Given the description of an element on the screen output the (x, y) to click on. 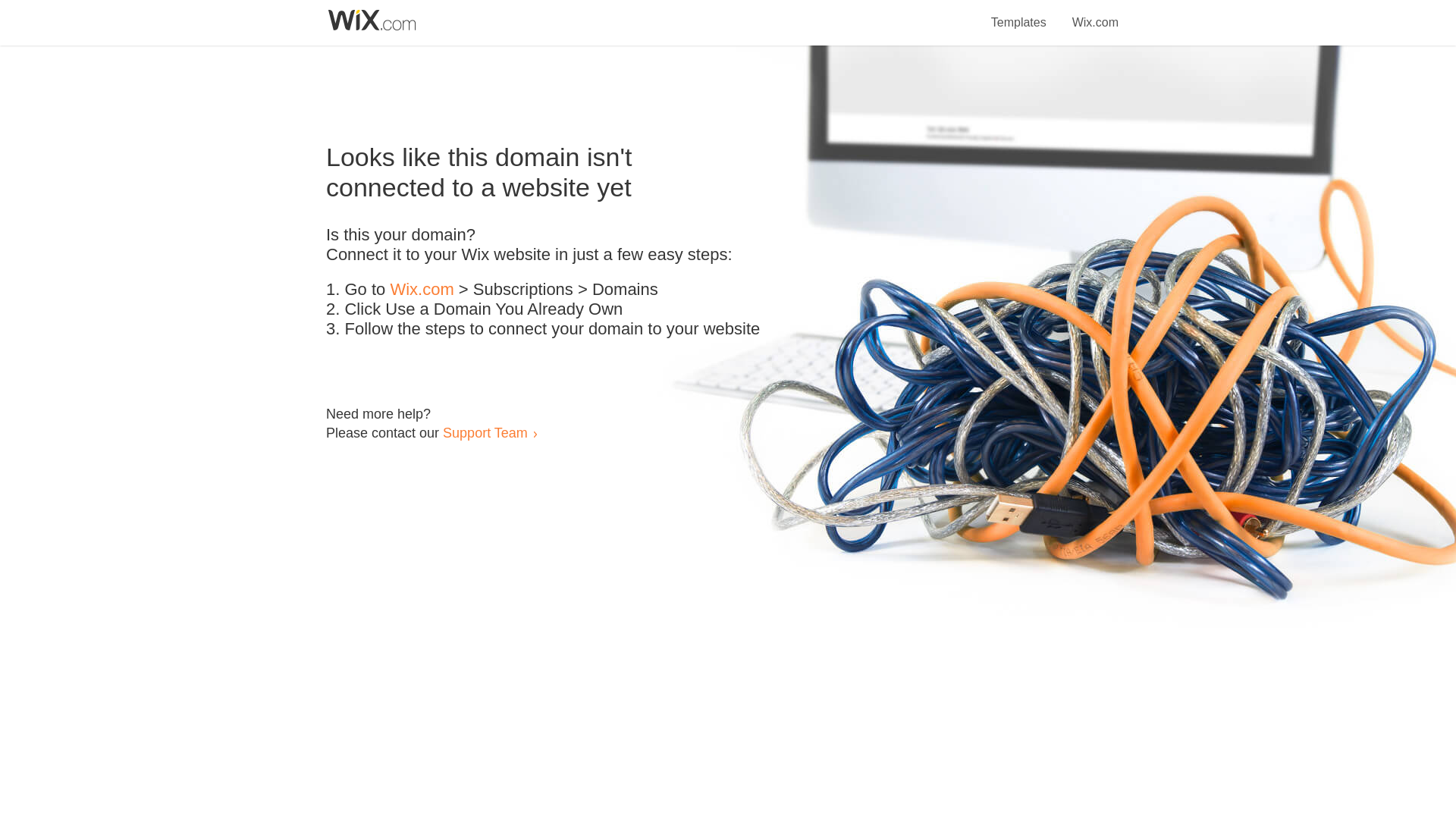
Wix.com (1095, 14)
Wix.com (421, 289)
Support Team (484, 432)
Templates (1018, 14)
